Given the description of an element on the screen output the (x, y) to click on. 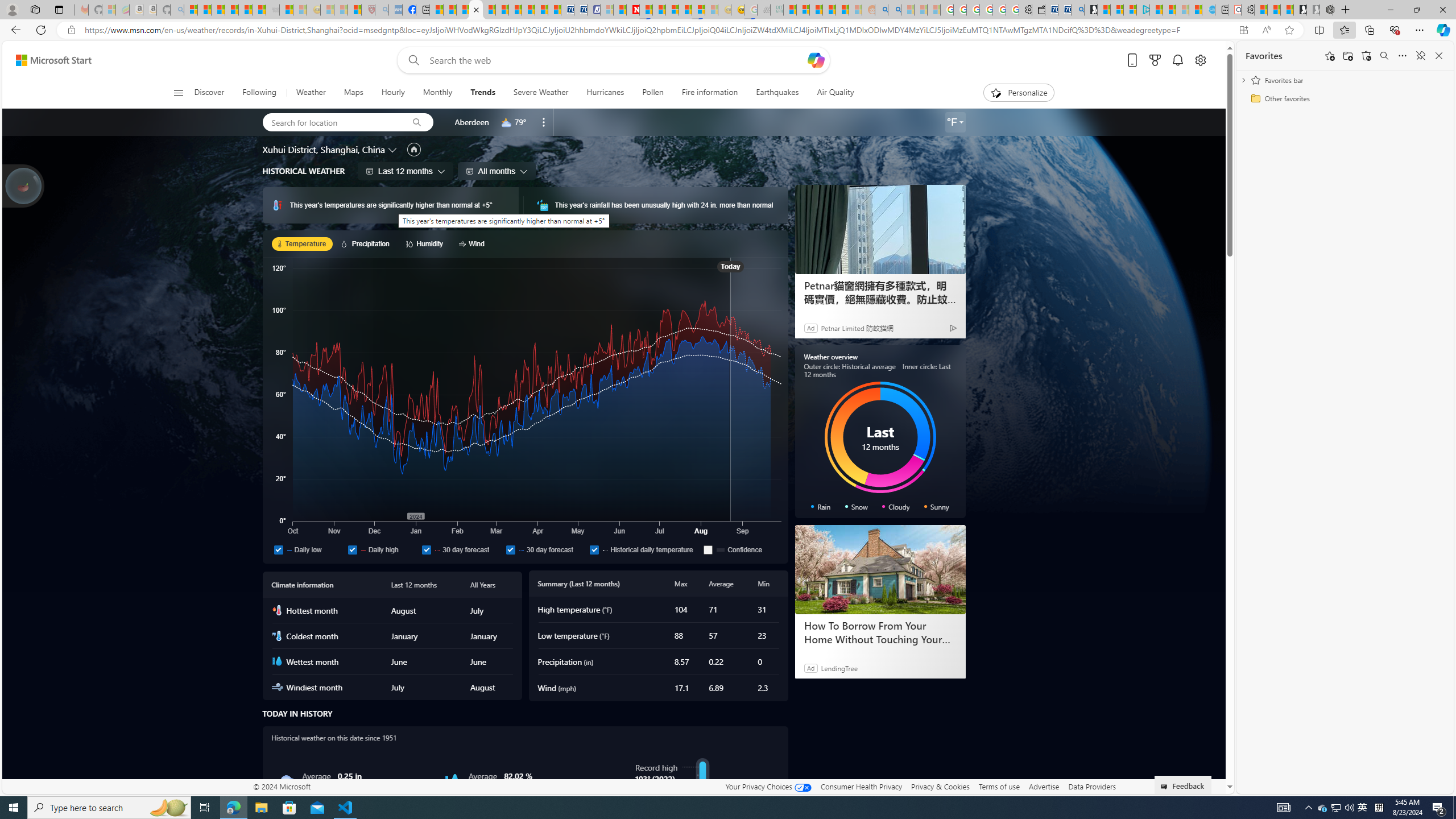
Fire information (709, 92)
Daily high (351, 549)
